Given the description of an element on the screen output the (x, y) to click on. 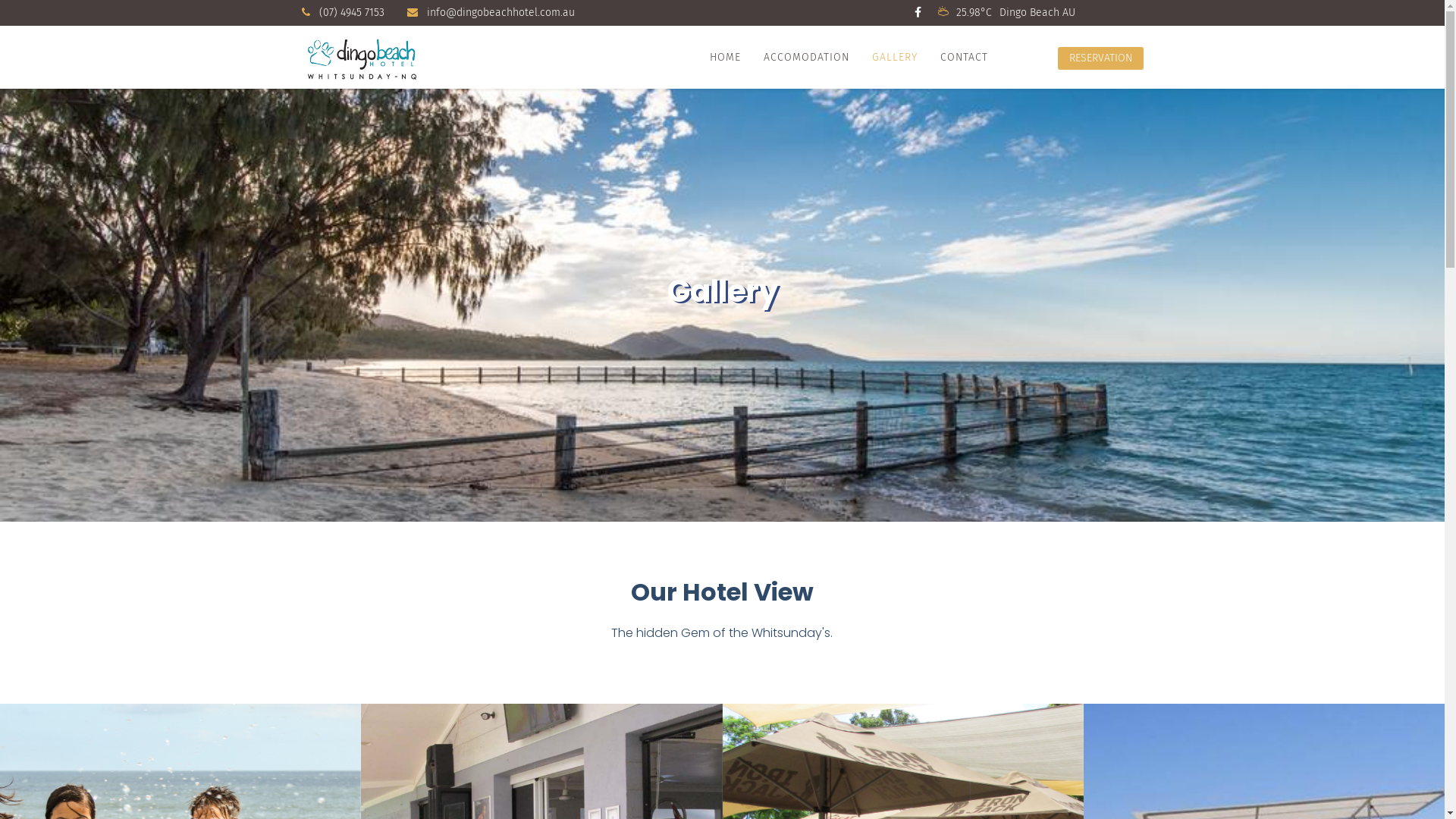
GALLERY Element type: text (893, 56)
info@dingobeachhotel.com.au Element type: text (500, 12)
RESERVATION Element type: text (1099, 58)
ACCOMODATION Element type: text (806, 56)
Overcast Clouds Element type: hover (942, 12)
HOME Element type: text (724, 56)
CONTACT Element type: text (963, 56)
